Given the description of an element on the screen output the (x, y) to click on. 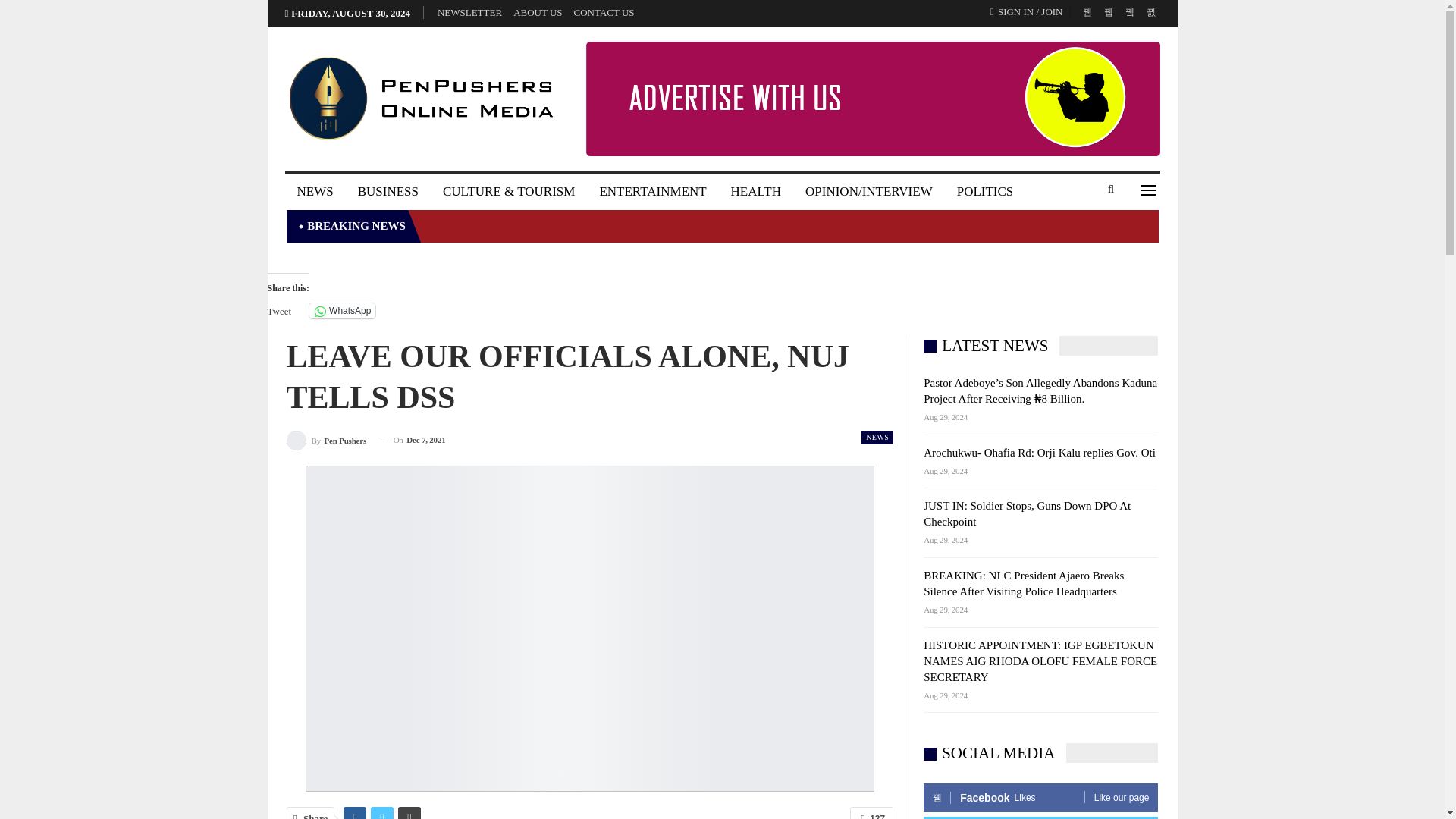
Browse Author Articles (326, 439)
HEALTH (756, 191)
CONTACT US (603, 12)
Click to share on WhatsApp (341, 310)
BUSINESS (388, 191)
NEWSLETTER (470, 12)
NEWS (315, 191)
POLITICS (985, 191)
ENTERTAINMENT (651, 191)
ABOUT US (537, 12)
